Given the description of an element on the screen output the (x, y) to click on. 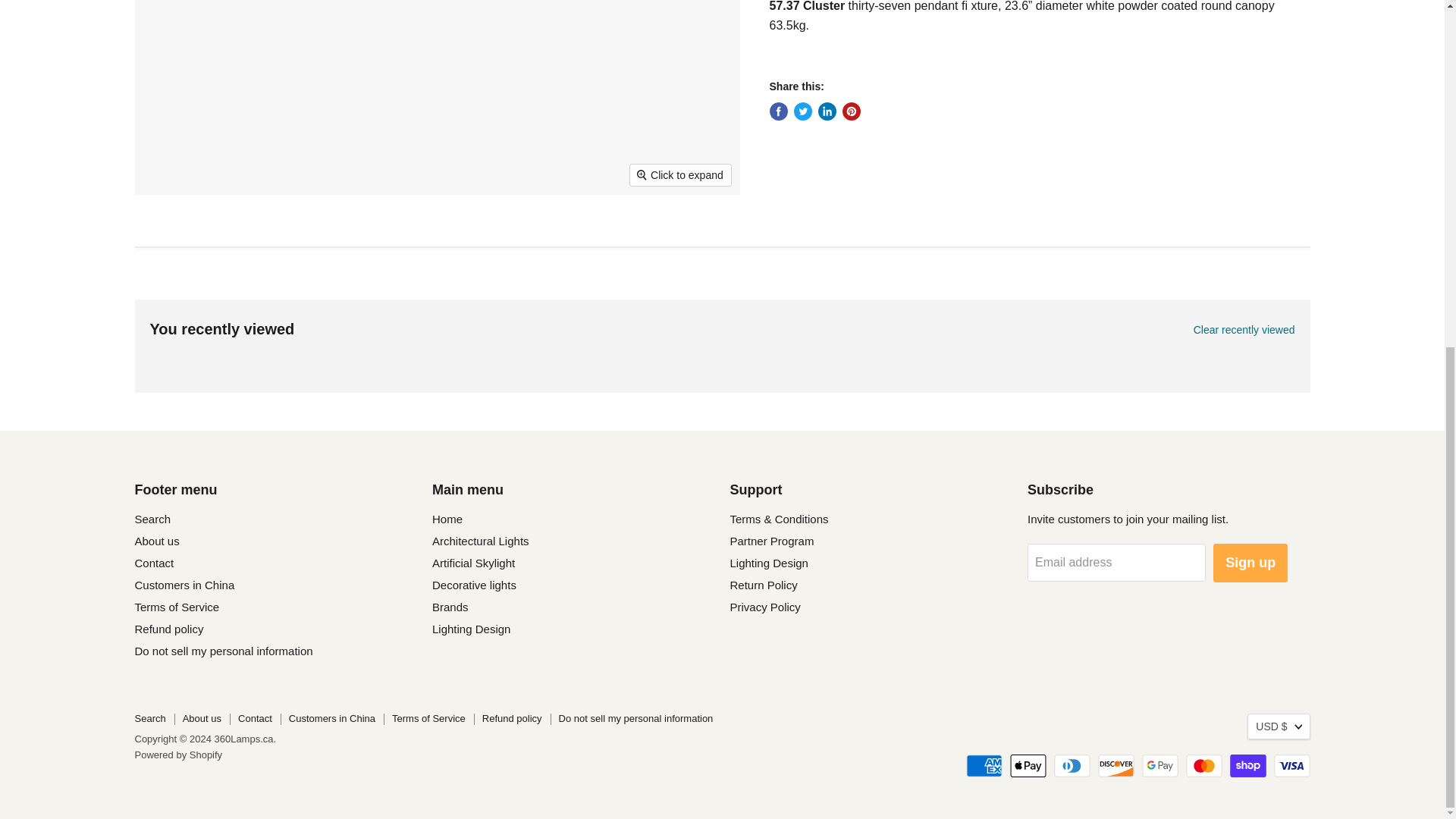
American Express (984, 765)
Apple Pay (1028, 765)
Diners Club (1072, 765)
